Given the description of an element on the screen output the (x, y) to click on. 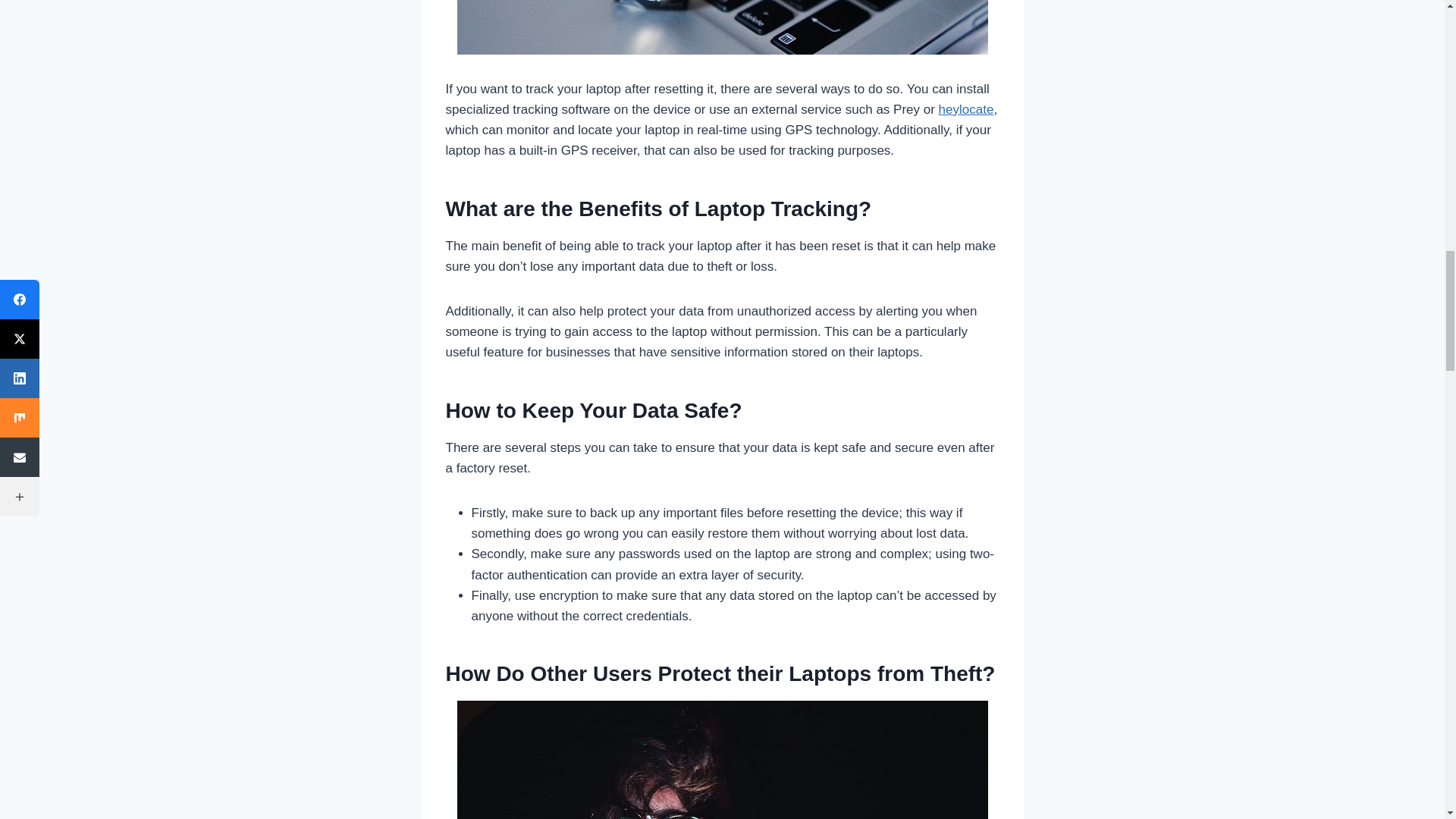
heylocate (966, 109)
